Given the description of an element on the screen output the (x, y) to click on. 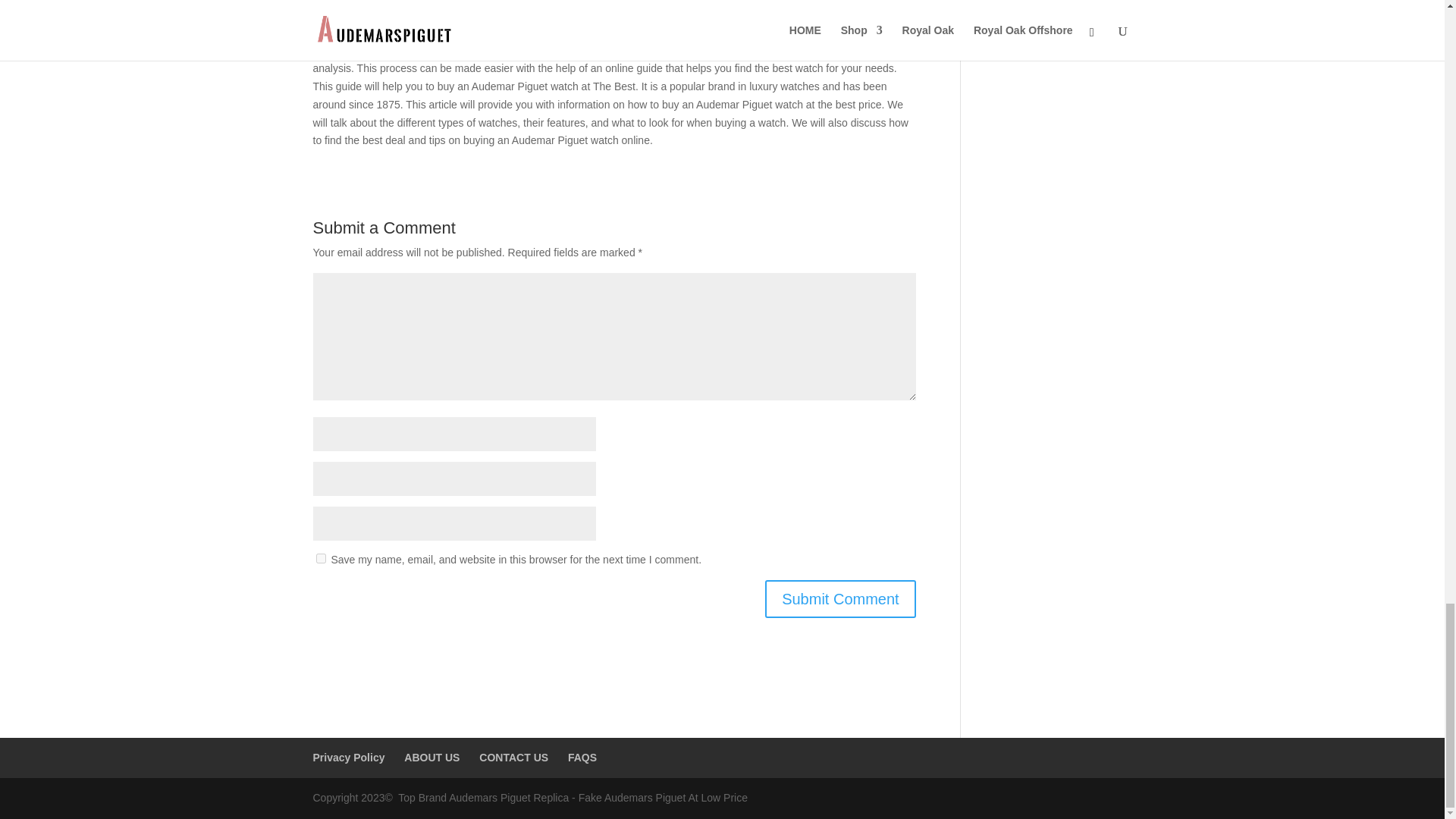
FAQS (581, 756)
yes (319, 558)
Privacy Policy (348, 756)
Submit Comment (840, 598)
ABOUT US (432, 756)
CONTACT US (513, 756)
Submit Comment (840, 598)
